Given the description of an element on the screen output the (x, y) to click on. 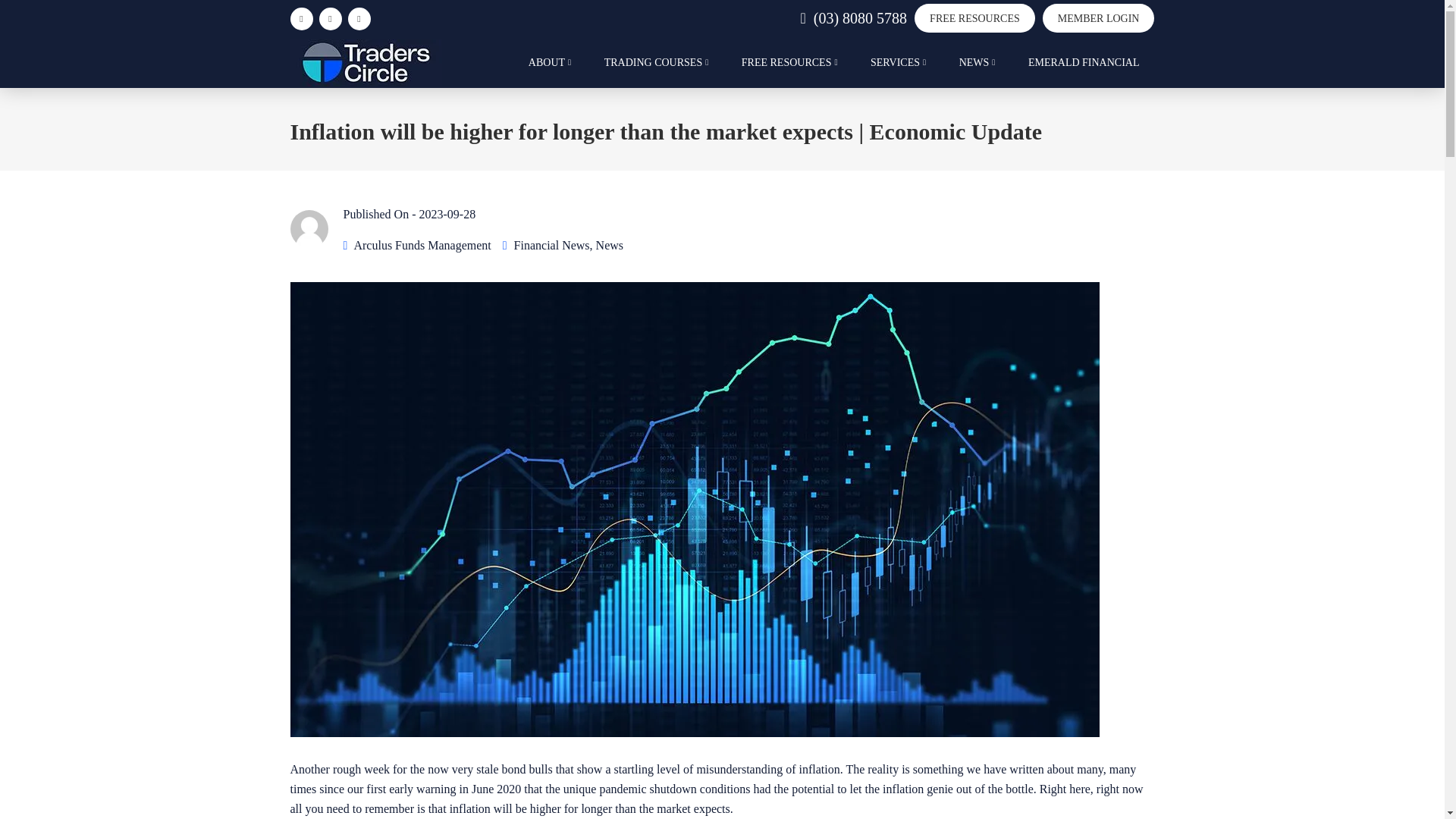
EMERALD FINANCIAL (1083, 70)
NEWS (976, 70)
TRADING COURSES (656, 70)
2023-09-28 (447, 214)
Financial News (551, 245)
FREE RESOURCES (789, 70)
SERVICES (898, 70)
News (609, 245)
MEMBER LOGIN (1098, 18)
ABOUT (549, 70)
FREE RESOURCES (974, 18)
